Given the description of an element on the screen output the (x, y) to click on. 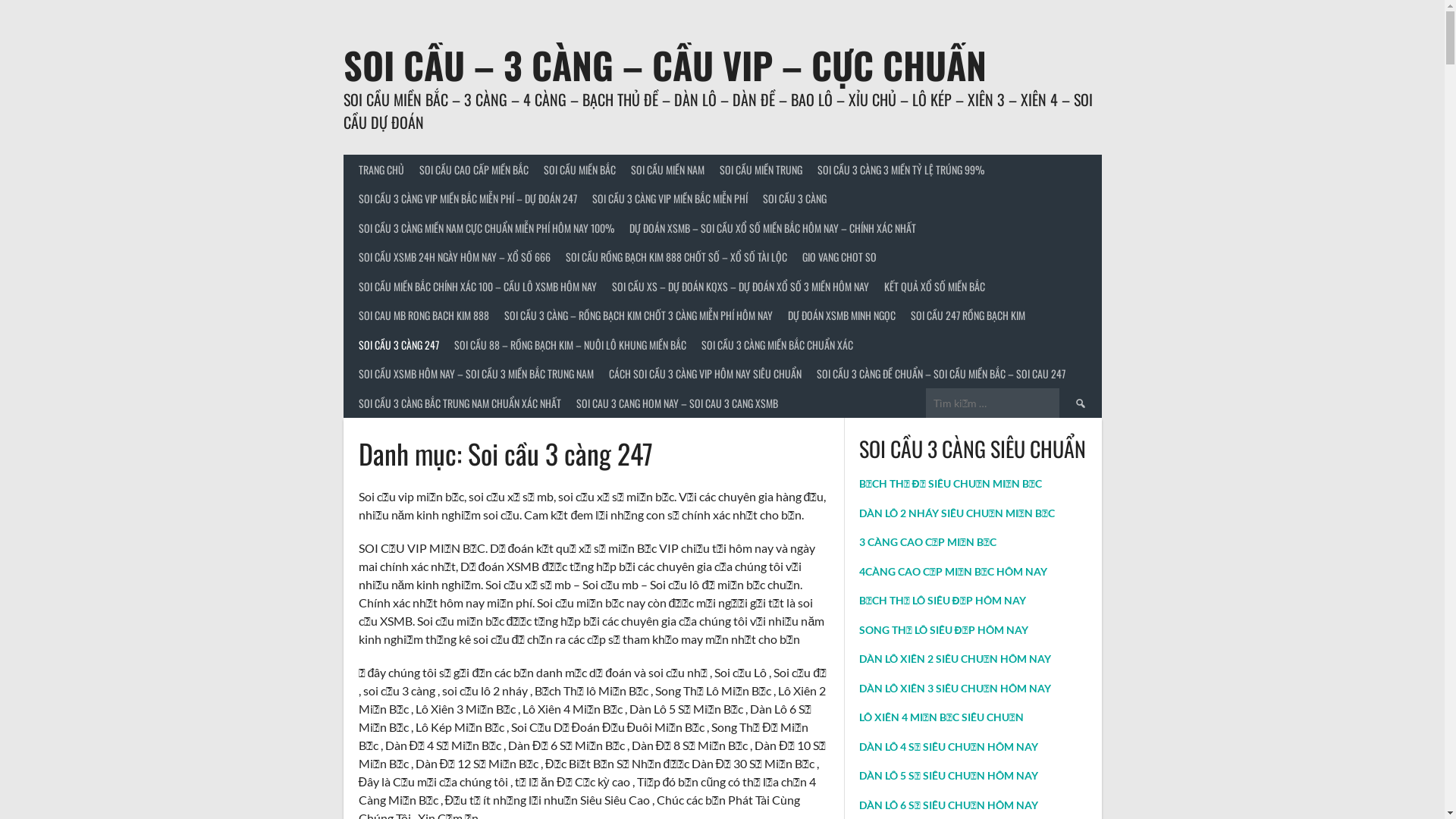
GIO VANG CHOT SO Element type: text (839, 257)
SOI CAU MB RONG BACH KIM 888 Element type: text (422, 314)
